Given the description of an element on the screen output the (x, y) to click on. 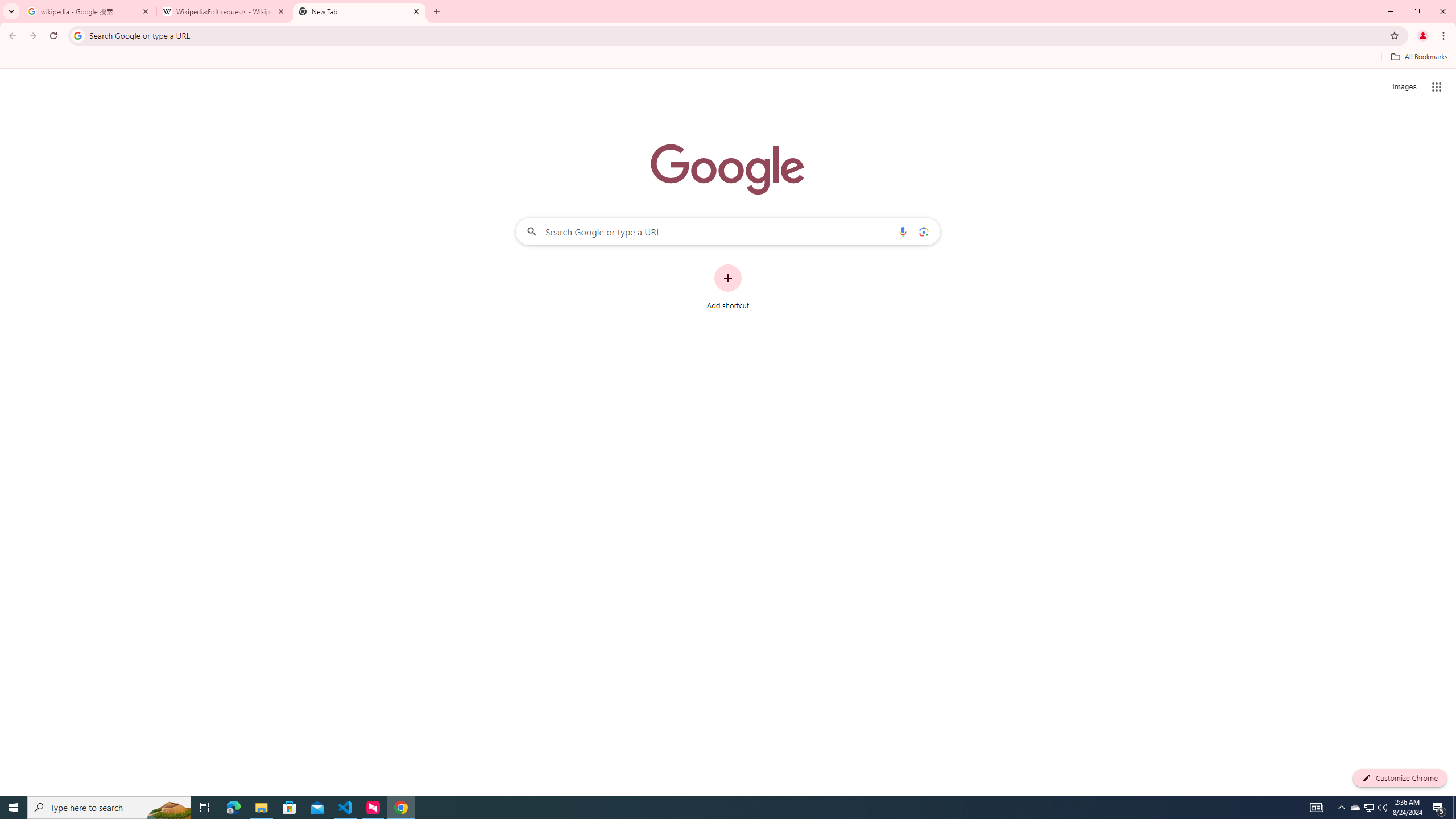
Search by image (922, 230)
Address and search bar (735, 35)
Search Google or type a URL (727, 230)
Add shortcut (727, 287)
Search icon (77, 35)
Bookmarks (728, 58)
New Tab (359, 11)
